Given the description of an element on the screen output the (x, y) to click on. 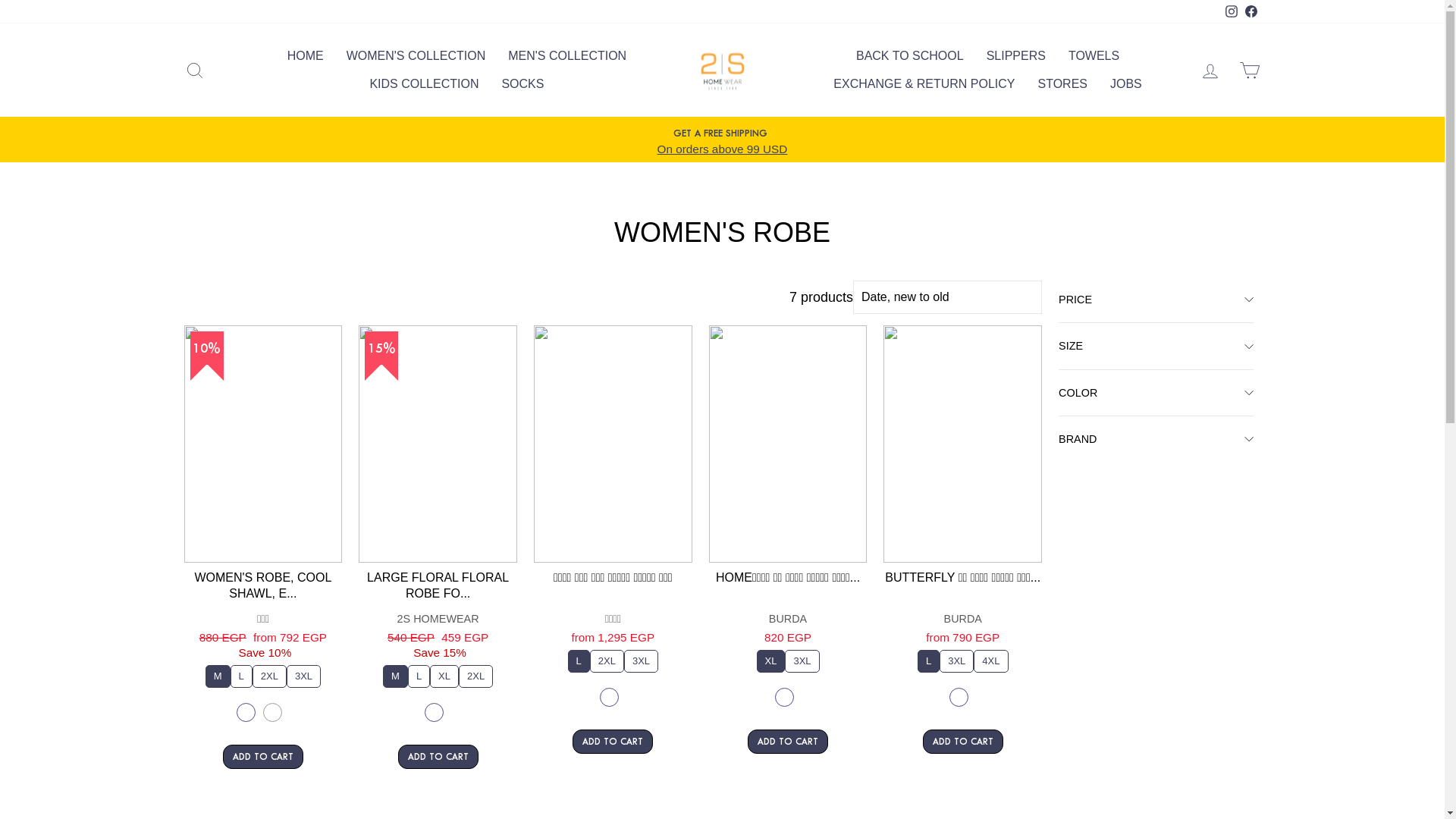
ADD TO CART Element type: text (612, 741)
BRAND Element type: text (1155, 439)
Instagram Element type: text (1230, 11)
ADD TO CART Element type: text (262, 756)
GET A FREE SHIPPING
On orders above 99 USD Element type: text (722, 140)
ADD TO CART Element type: text (438, 756)
COLOR Element type: text (1155, 392)
BACK TO SCHOOL Element type: text (909, 55)
CART Element type: text (1249, 69)
SEARCH Element type: text (193, 69)
WOMEN'S COLLECTION Element type: text (416, 55)
SIZE Element type: text (1155, 345)
LOG IN Element type: text (1210, 69)
EXCHANGE & RETURN POLICY Element type: text (924, 84)
MEN'S COLLECTION Element type: text (566, 55)
Facebook Element type: text (1250, 11)
SOCKS Element type: text (522, 84)
ADD TO CART Element type: text (787, 741)
JOBS Element type: text (1125, 84)
TOWELS Element type: text (1093, 55)
PRICE Element type: text (1155, 299)
SLIPPERS Element type: text (1016, 55)
KIDS COLLECTION Element type: text (423, 84)
STORES Element type: text (1062, 84)
HOME Element type: text (305, 55)
ADD TO CART Element type: text (962, 741)
